Given the description of an element on the screen output the (x, y) to click on. 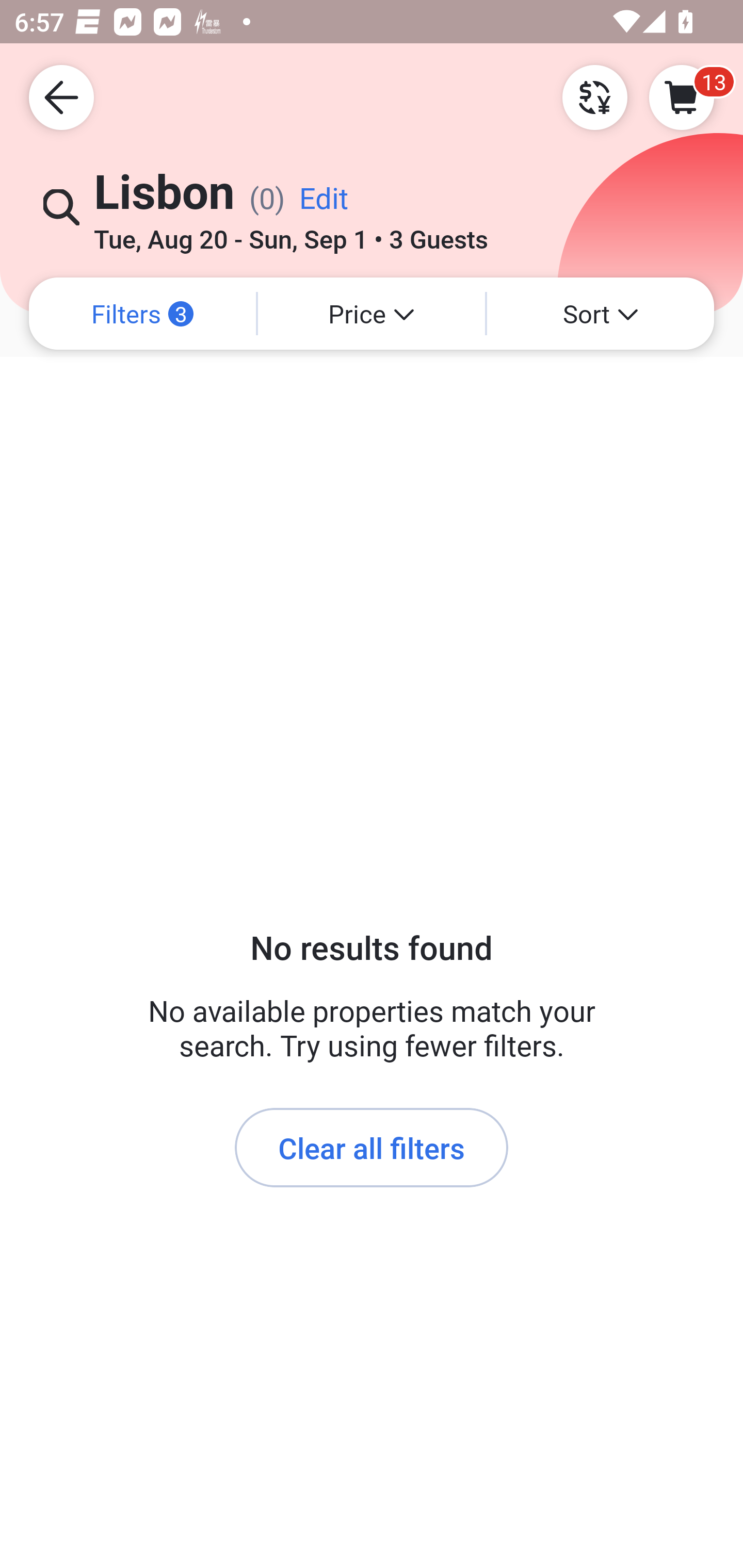
Filters 3 (141, 313)
Price (371, 313)
Sort (600, 313)
Clear all filters (371, 1147)
